Given the description of an element on the screen output the (x, y) to click on. 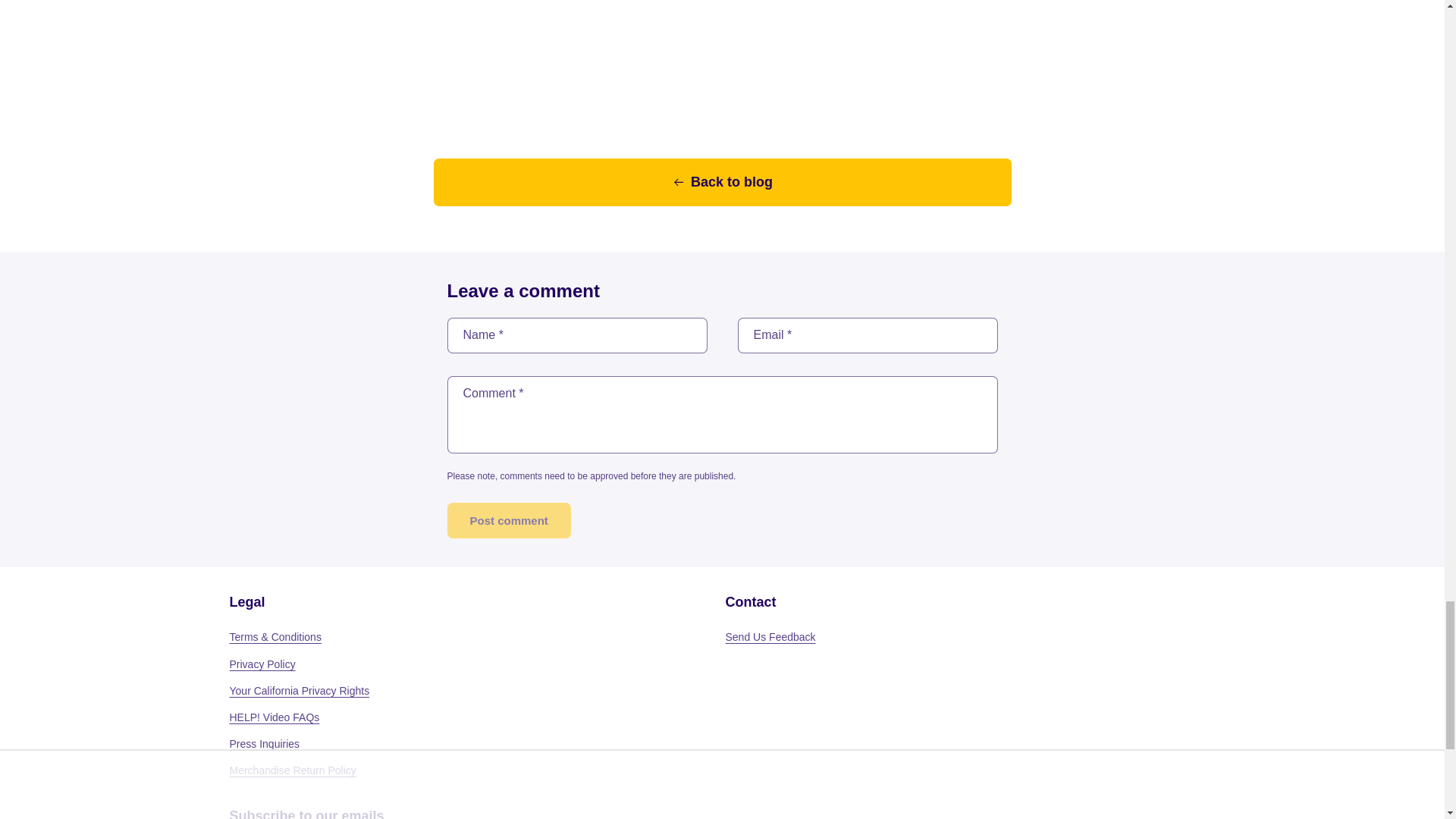
Post comment (508, 520)
